Given the description of an element on the screen output the (x, y) to click on. 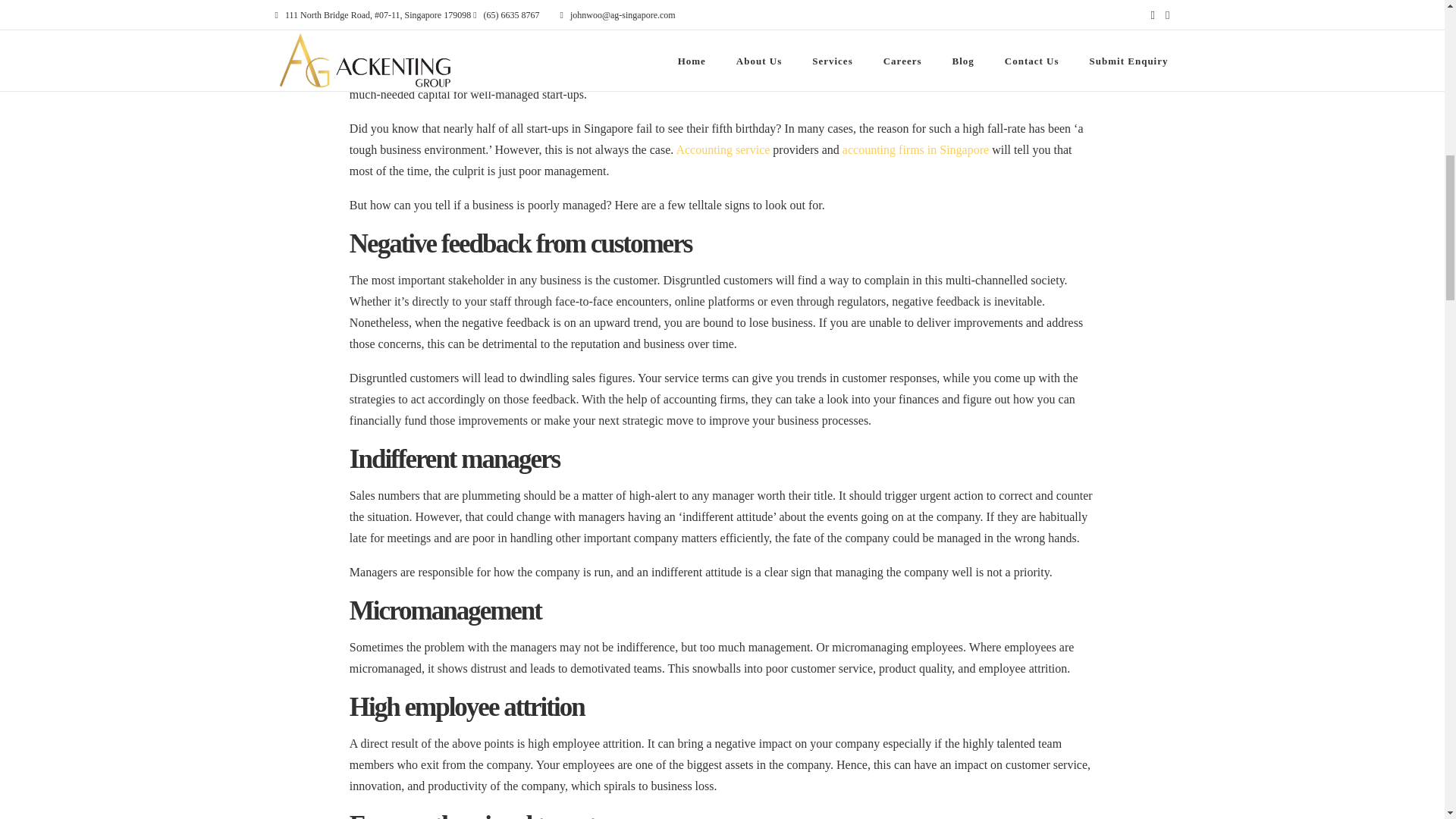
accounting firms in Singapore (915, 149)
Accounting service (722, 149)
Accounting Services, SME Accounting Services (722, 149)
Accounting Firms In Singapore, Accounting Firms Singapore (915, 149)
